Given the description of an element on the screen output the (x, y) to click on. 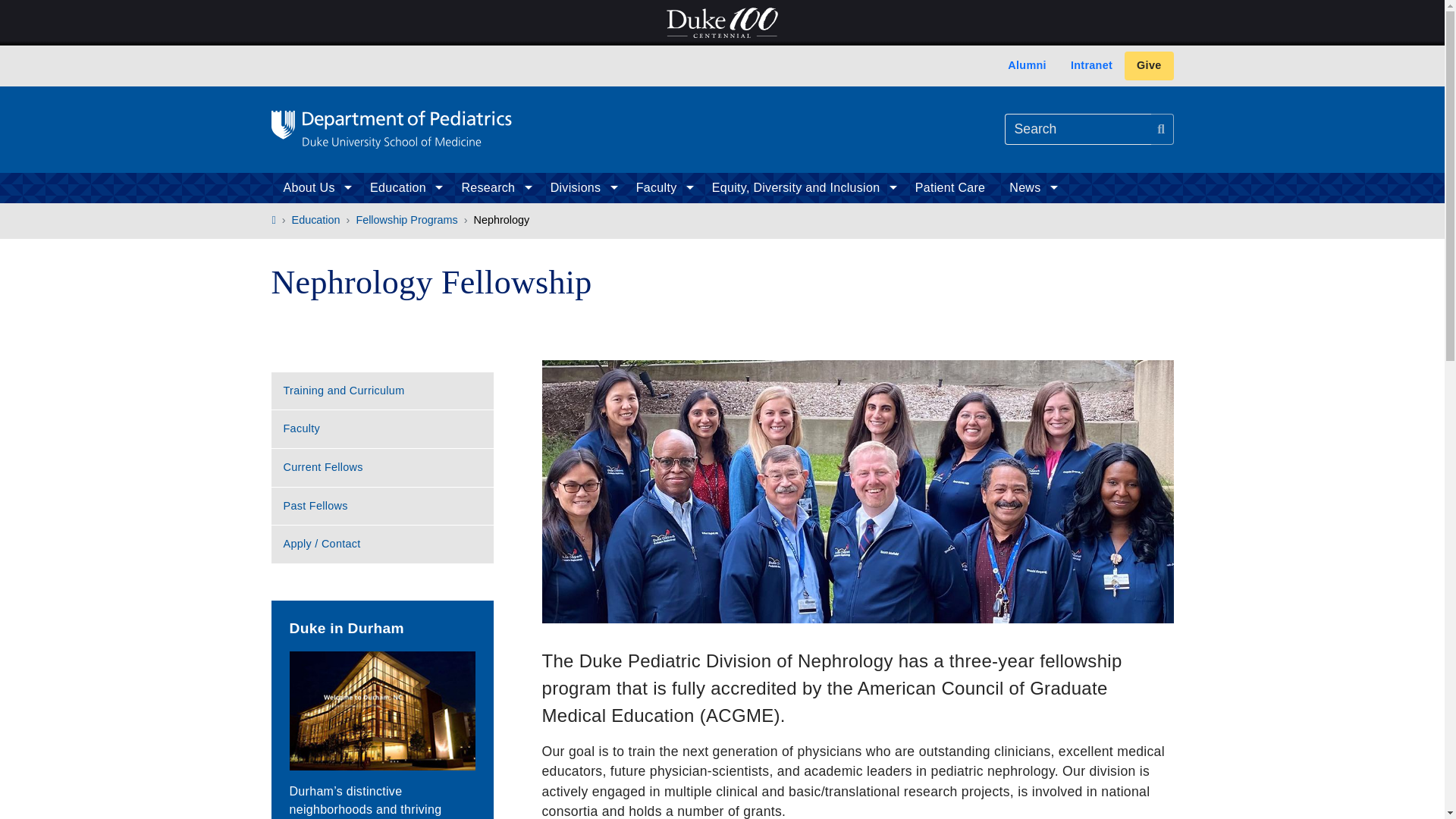
Give (1148, 65)
Research (492, 187)
About Us (314, 187)
Intranet (1091, 65)
Divisions (581, 187)
Education (403, 187)
Alumni (1026, 65)
Enter the terms you wish to search for. (1077, 128)
Home (391, 129)
